Given the description of an element on the screen output the (x, y) to click on. 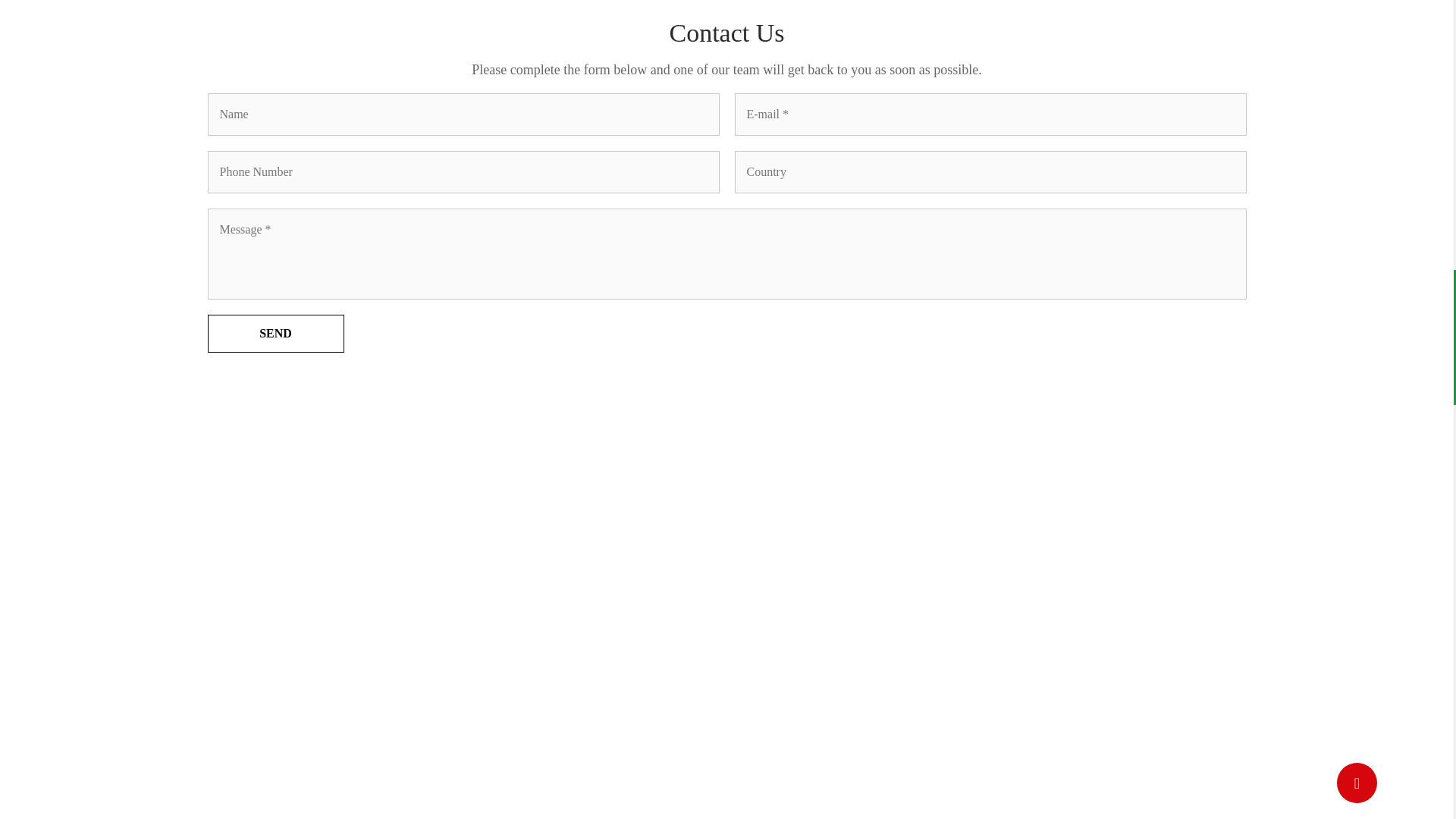
SEND (275, 333)
